Given the description of an element on the screen output the (x, y) to click on. 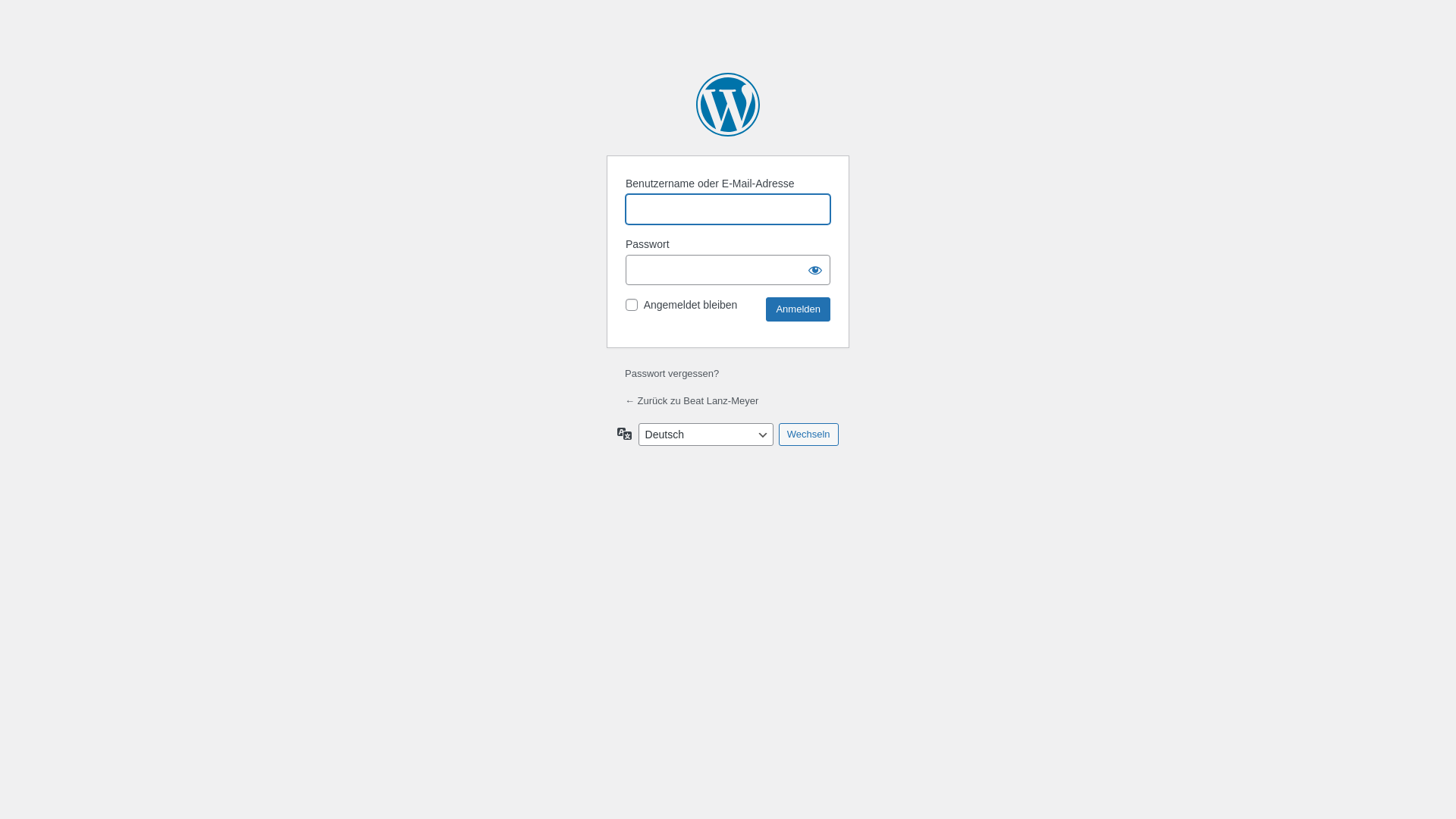
Powered by WordPress Element type: text (727, 104)
Wechseln Element type: text (808, 434)
Anmelden Element type: text (797, 309)
Passwort vergessen? Element type: text (671, 373)
